Given the description of an element on the screen output the (x, y) to click on. 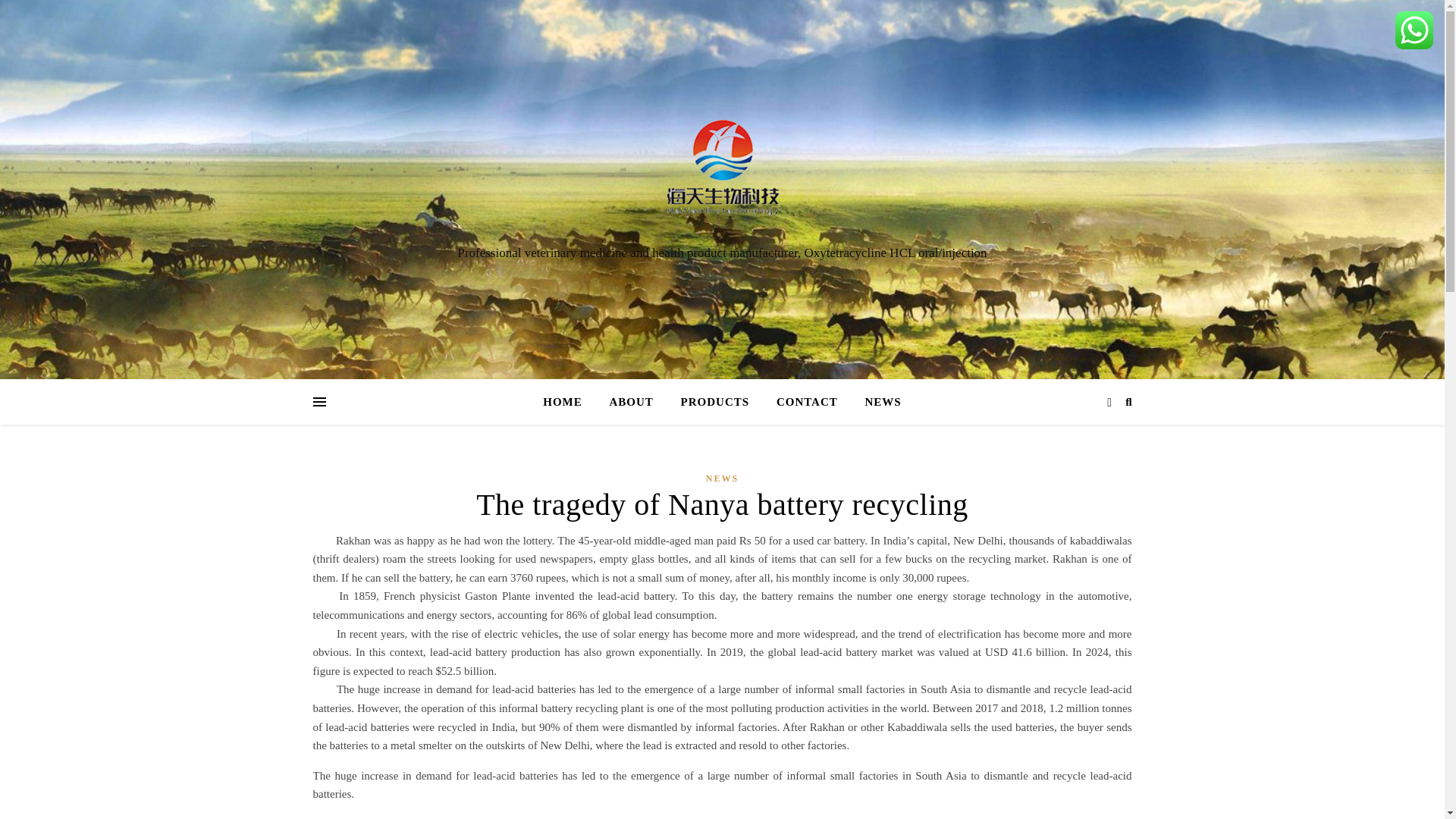
ABOUT (630, 402)
Henan Haitian Biotechnology Co Ltd (721, 175)
PRODUCTS (714, 402)
NEWS (877, 402)
HOME (568, 402)
NEWS (722, 478)
CONTACT (807, 402)
